Given the description of an element on the screen output the (x, y) to click on. 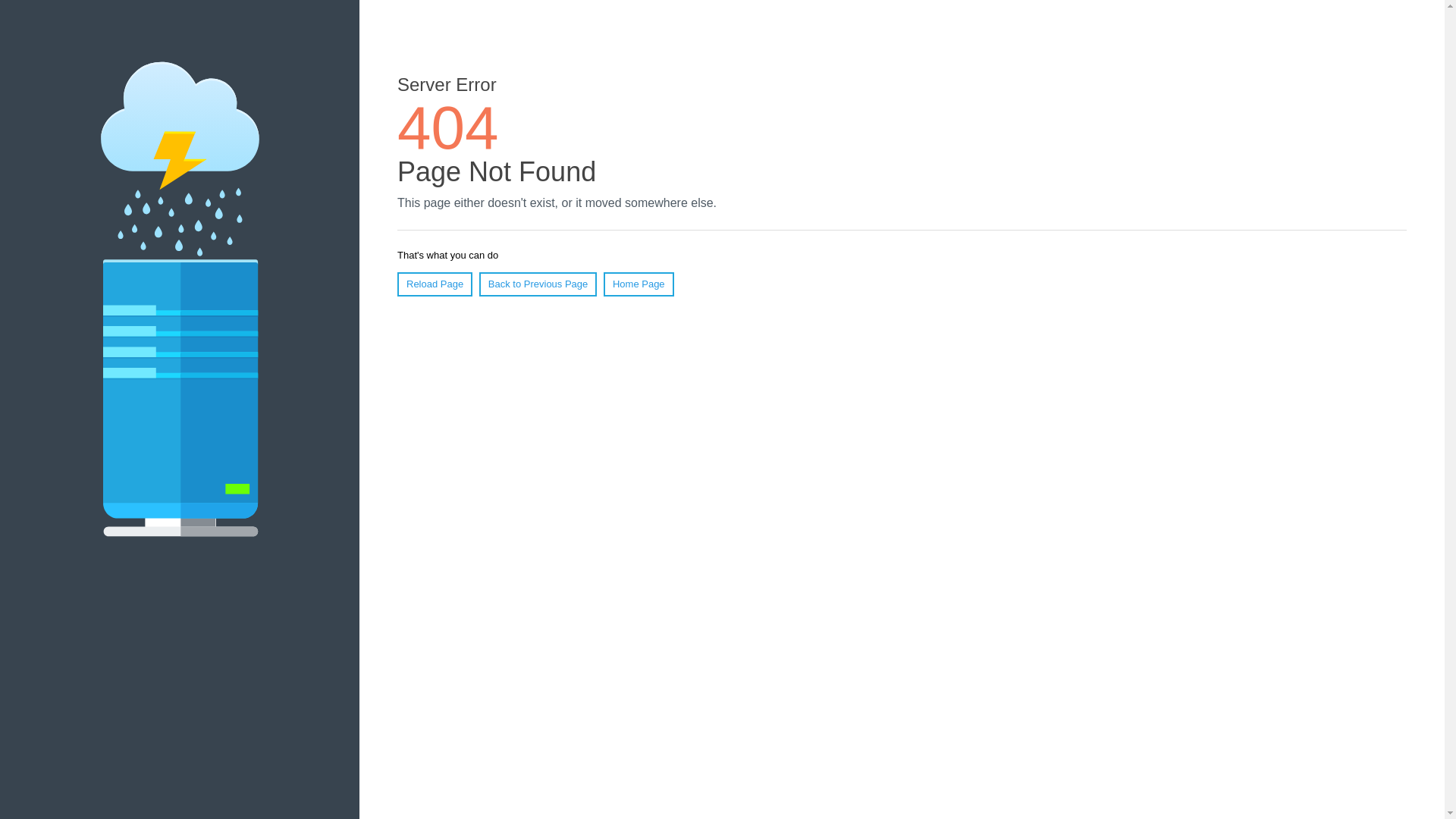
Back to Previous Page Element type: text (538, 284)
Reload Page Element type: text (434, 284)
Home Page Element type: text (638, 284)
